Given the description of an element on the screen output the (x, y) to click on. 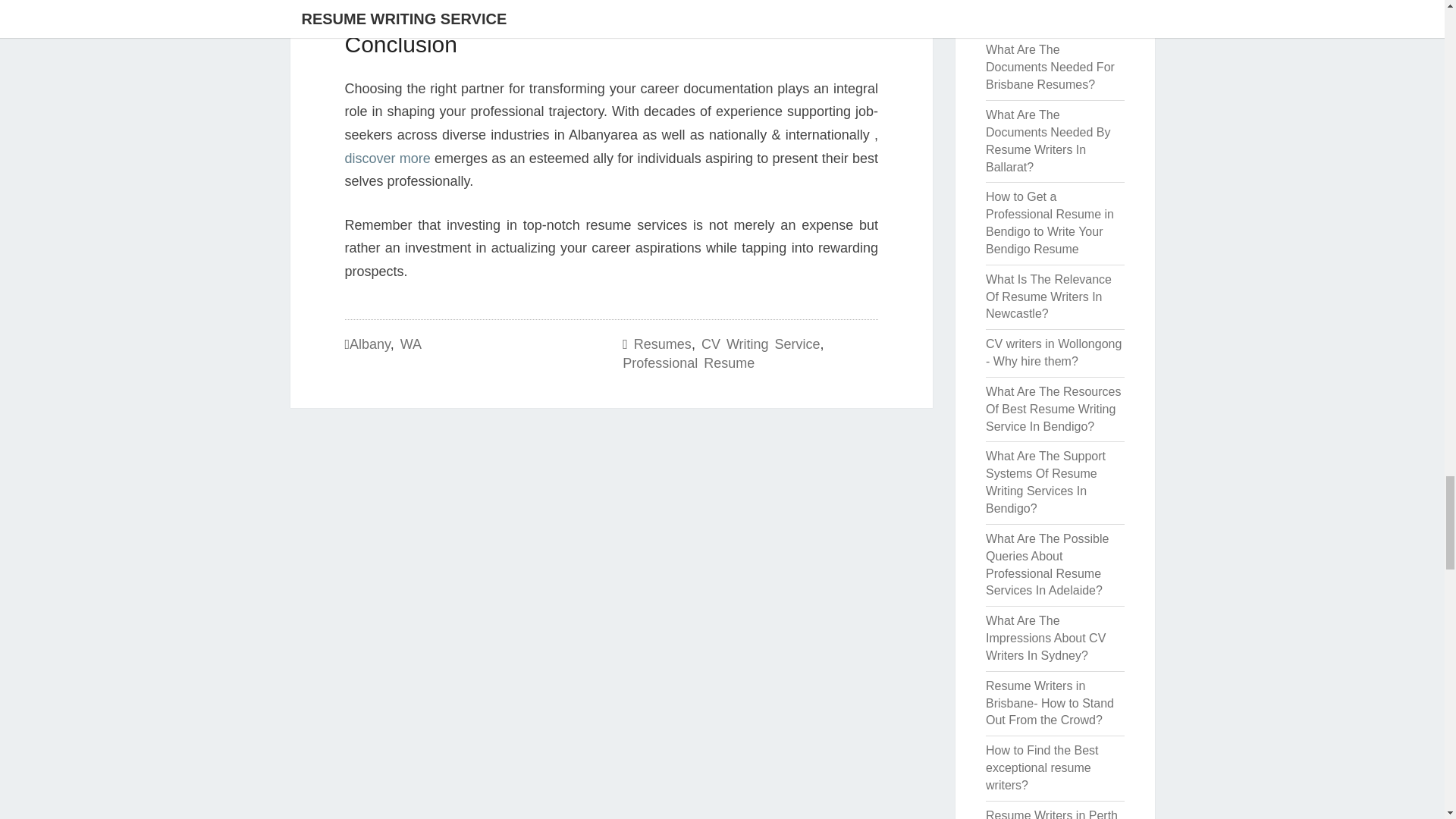
WA (411, 344)
Professional Resume (688, 363)
discover more (386, 158)
CV Writing Service (761, 344)
Albany (369, 344)
Resumes (662, 344)
